Given the description of an element on the screen output the (x, y) to click on. 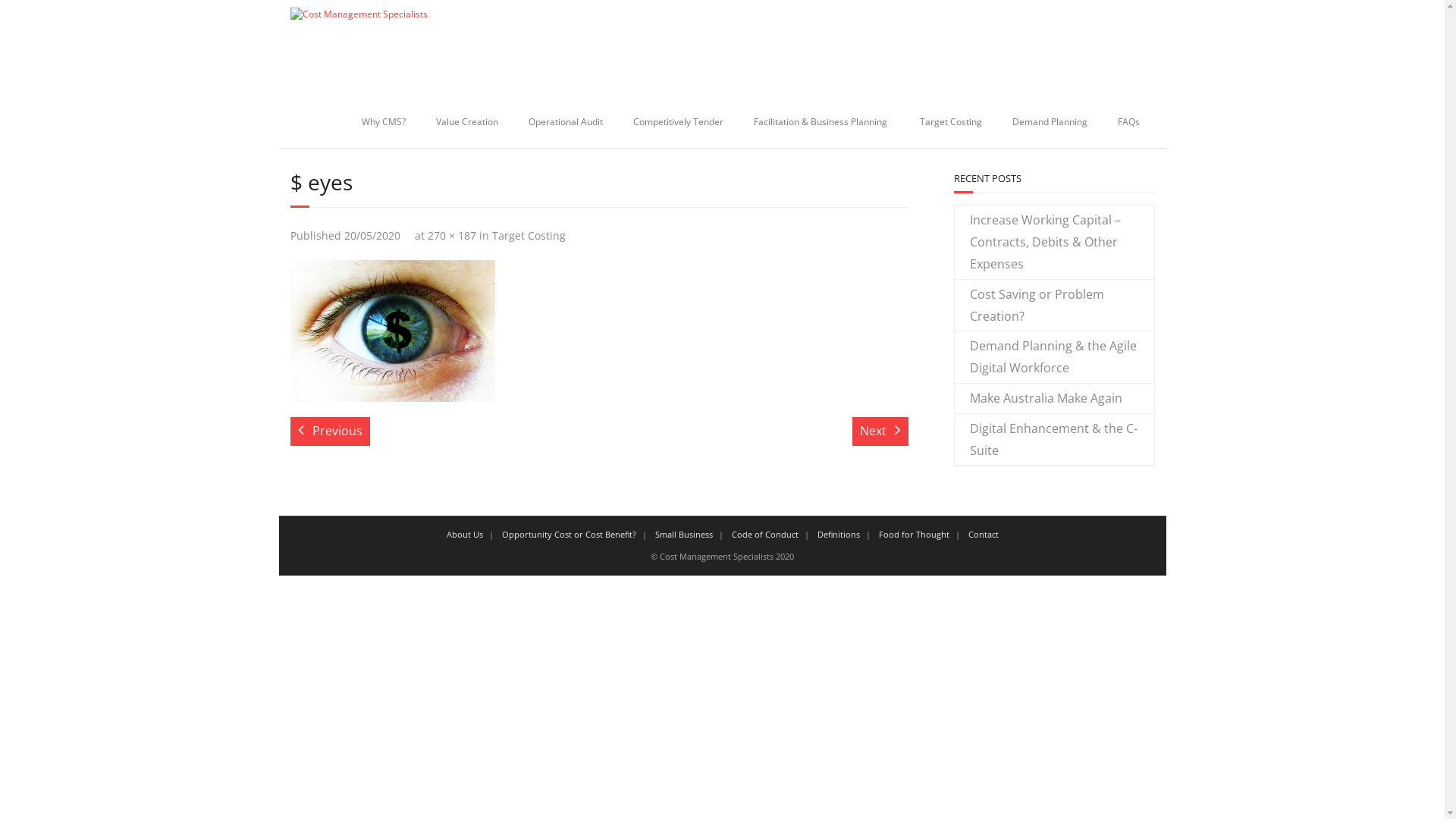
Make Australia Make Again Element type: text (1037, 398)
Cost Saving or Problem Creation? Element type: text (1053, 305)
Code of Conduct Element type: text (763, 533)
Definitions Element type: text (838, 533)
Opportunity Cost or Cost Benefit? Element type: text (568, 533)
Demand Planning Element type: text (1048, 121)
FAQs Element type: text (1128, 121)
About Us Element type: text (463, 533)
Value Creation Element type: text (466, 121)
Facilitation & Business Planning  Element type: text (821, 121)
Competitively Tender Element type: text (677, 121)
Target Costing Element type: text (527, 235)
Why CMS? Element type: text (382, 121)
Previous Element type: text (329, 431)
Target Costing Element type: text (949, 121)
Demand Planning & the Agile Digital Workforce Element type: text (1053, 356)
Contact Element type: text (982, 533)
Next Element type: text (880, 431)
Small Business Element type: text (683, 533)
Operational Audit Element type: text (564, 121)
Food for Thought Element type: text (913, 533)
Digital Enhancement & the C-Suite Element type: text (1053, 439)
